Given the description of an element on the screen output the (x, y) to click on. 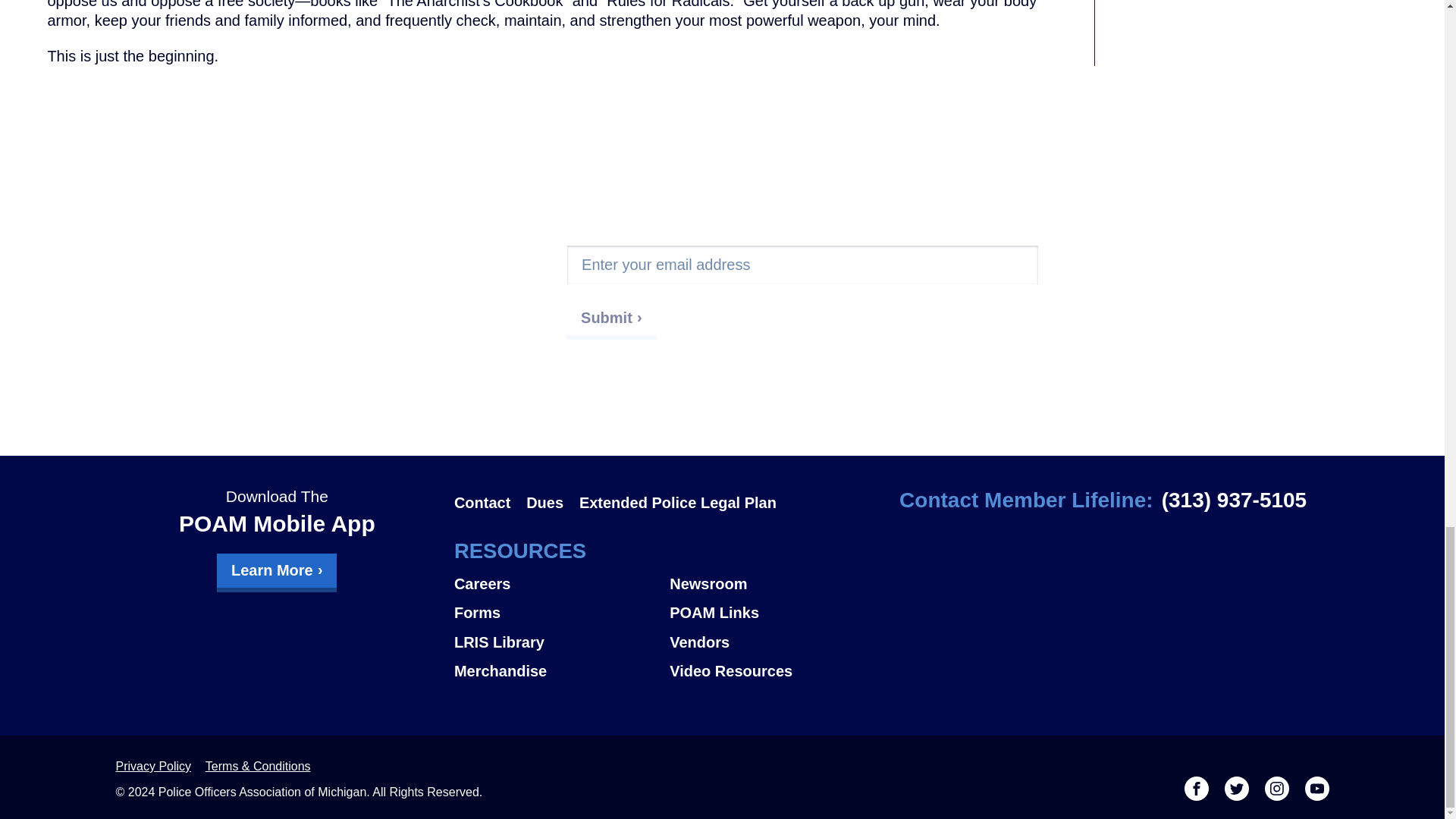
Contact (482, 502)
Video Resources (730, 670)
Vendors (699, 641)
Newsroom (707, 583)
Extended Police Legal Plan (677, 502)
Forms (477, 612)
POAM Links (713, 612)
LRIS Library (499, 641)
Dues (544, 502)
Careers (482, 583)
Merchandise (500, 670)
